Given the description of an element on the screen output the (x, y) to click on. 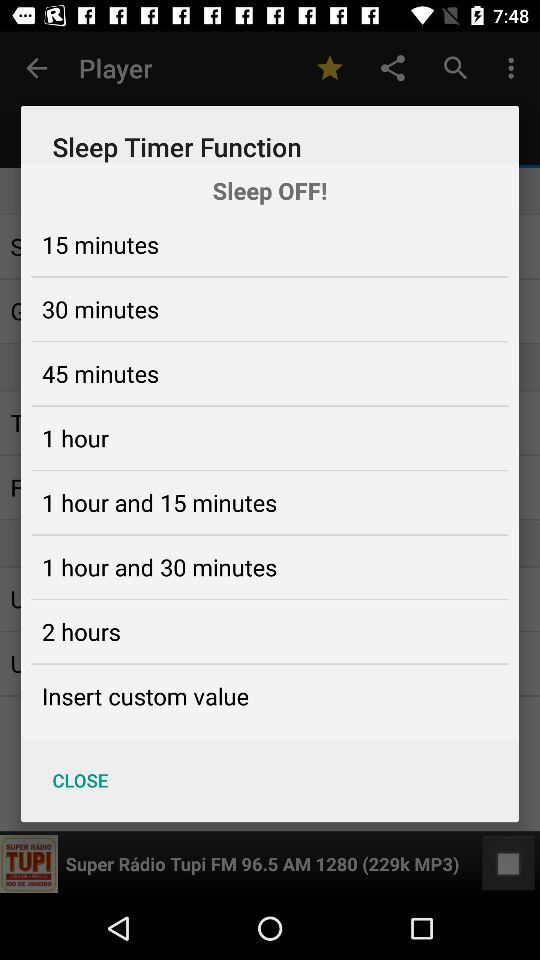
turn on item above insert custom value (81, 631)
